Given the description of an element on the screen output the (x, y) to click on. 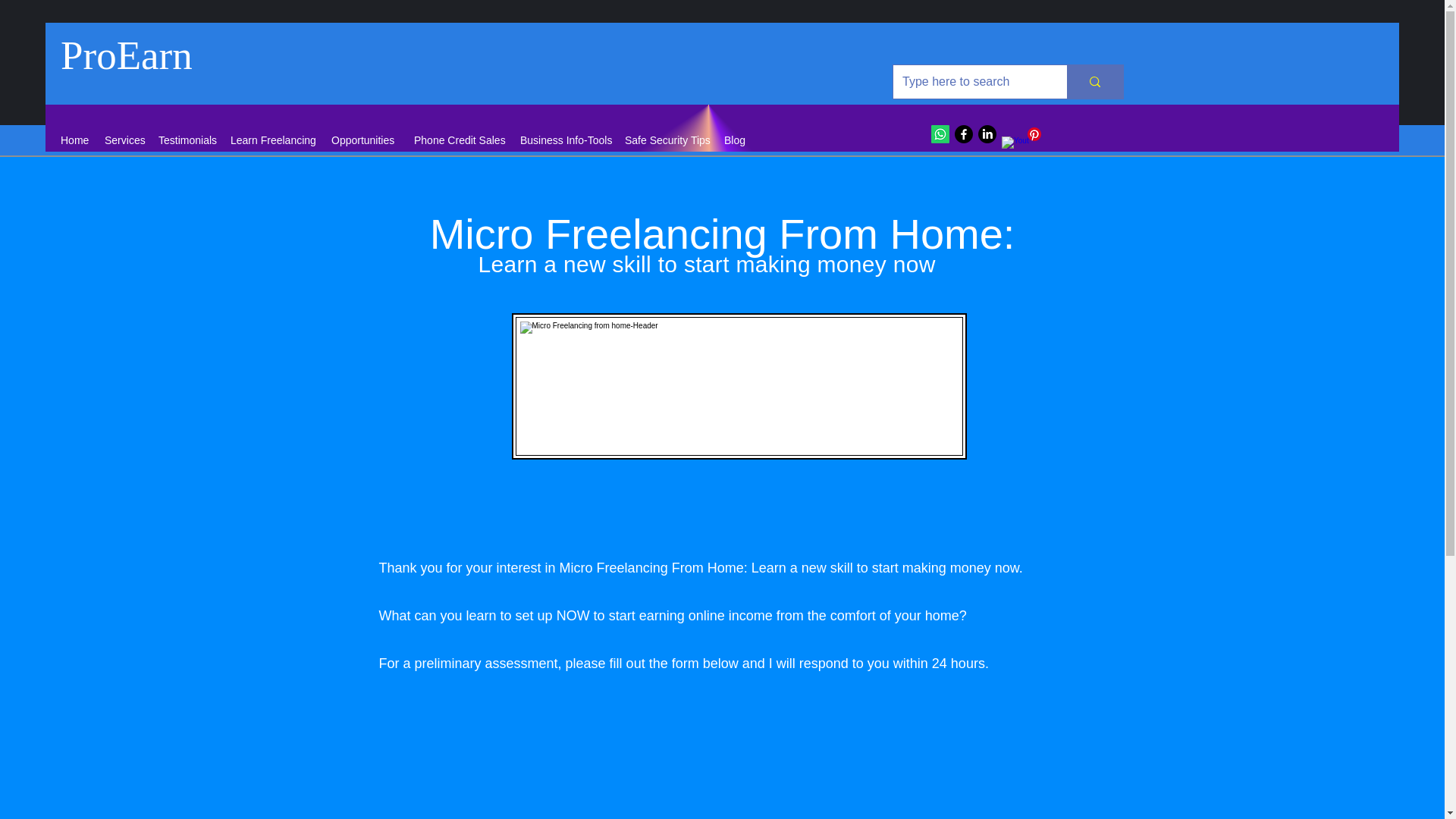
Services (124, 139)
Testimonials (186, 139)
Opportunities (364, 139)
Business Info-Tools (564, 139)
Phone Credit Sales (459, 139)
Blog (735, 139)
Sign up to learn a new skill with micro freelancing. (738, 385)
Safe Security Tips (666, 139)
Learn Freelancing (272, 139)
Home (74, 139)
